Given the description of an element on the screen output the (x, y) to click on. 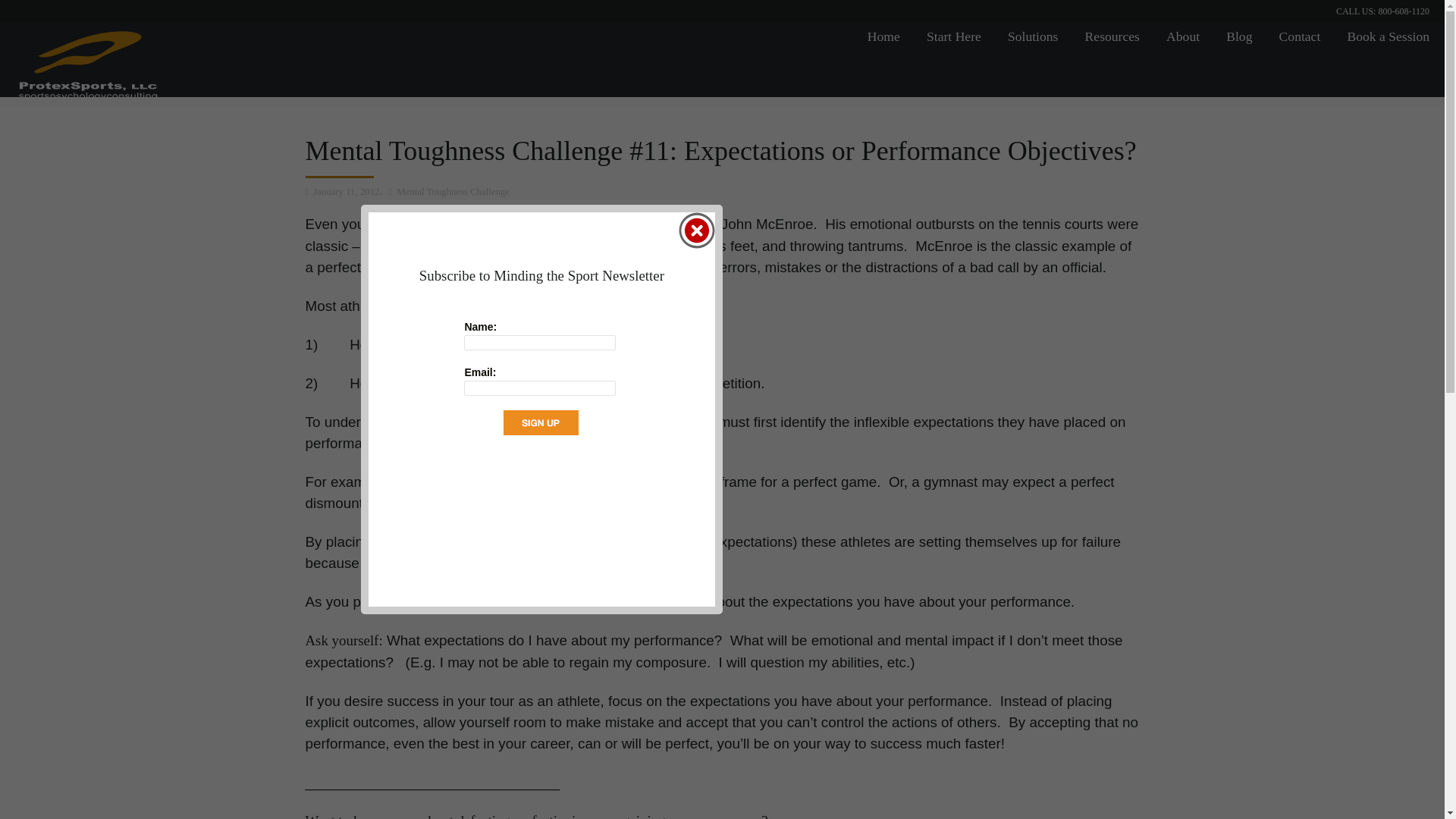
Contact (1299, 36)
CALL US: 800-608-1120 (1382, 10)
Mental Toughness Challenge (443, 191)
January 11, 2012 (341, 191)
Book a Session (1386, 36)
Blog (1239, 36)
About (1183, 36)
Home (882, 36)
Resources (1111, 36)
Solutions (1032, 36)
Start Here (954, 36)
